Given the description of an element on the screen output the (x, y) to click on. 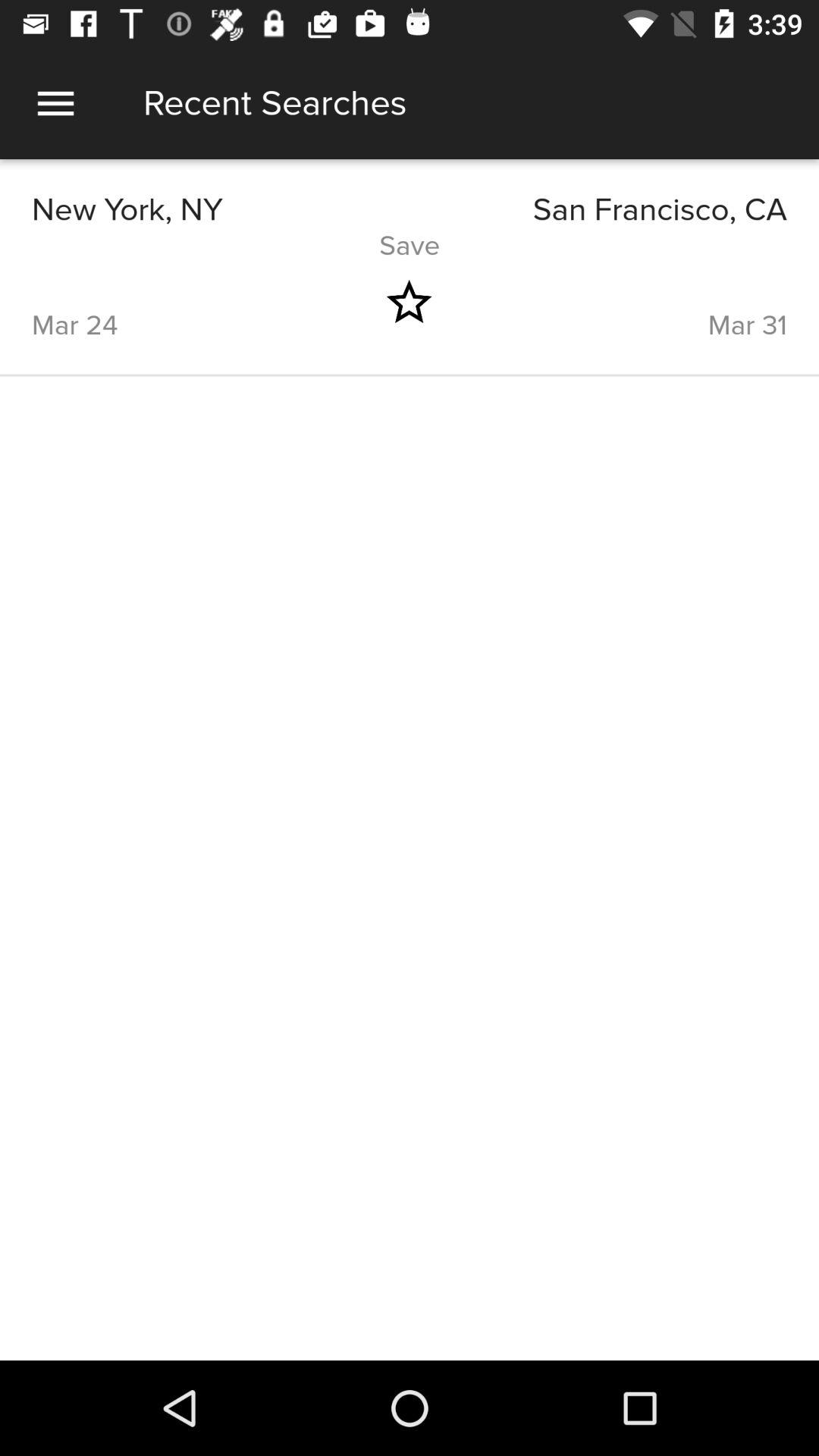
launch icon above the save (220, 210)
